Given the description of an element on the screen output the (x, y) to click on. 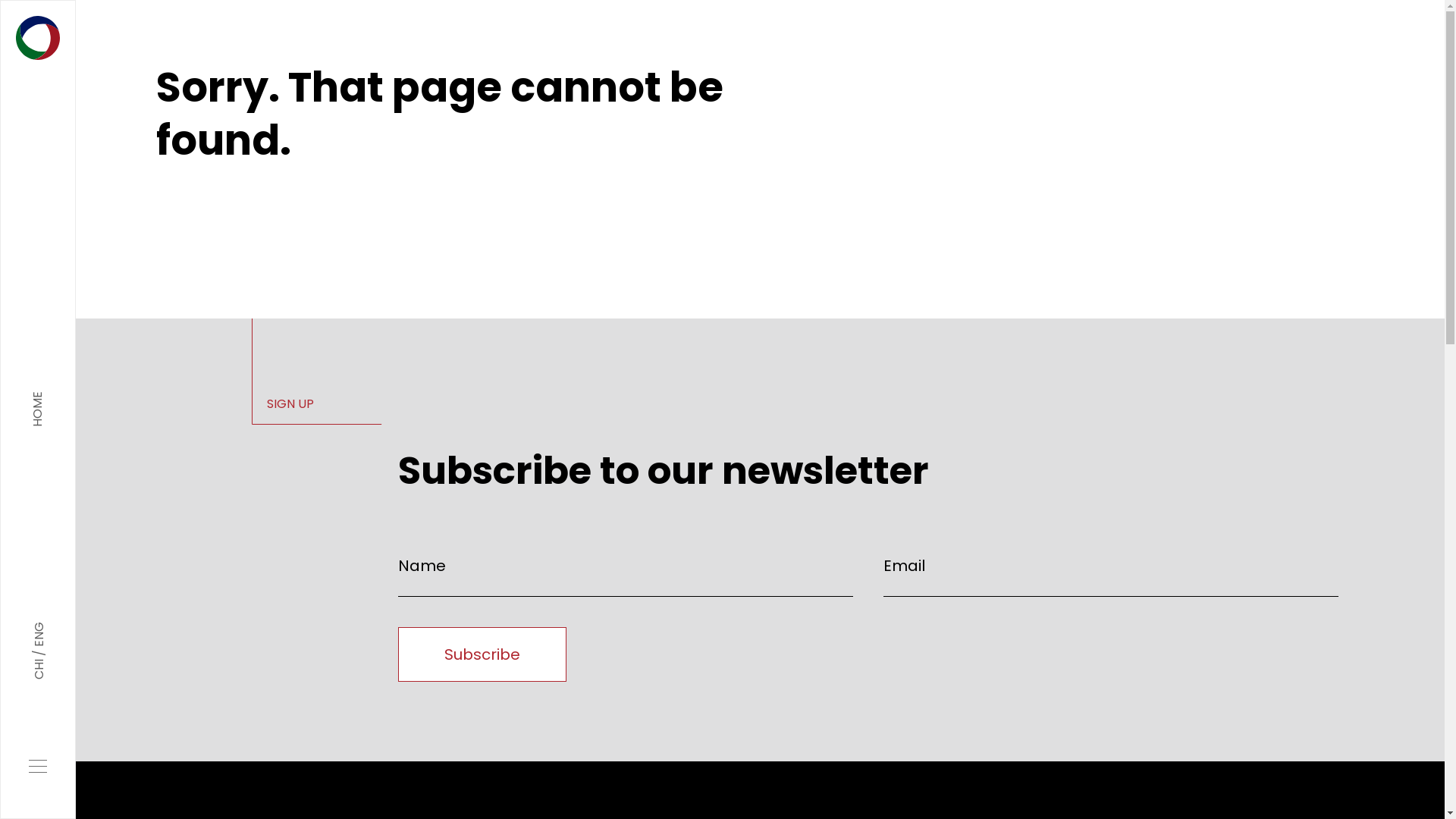
HOME Element type: text (37, 408)
ENG Element type: text (48, 629)
Subscribe Element type: text (482, 654)
CHI Element type: text (40, 666)
